Given the description of an element on the screen output the (x, y) to click on. 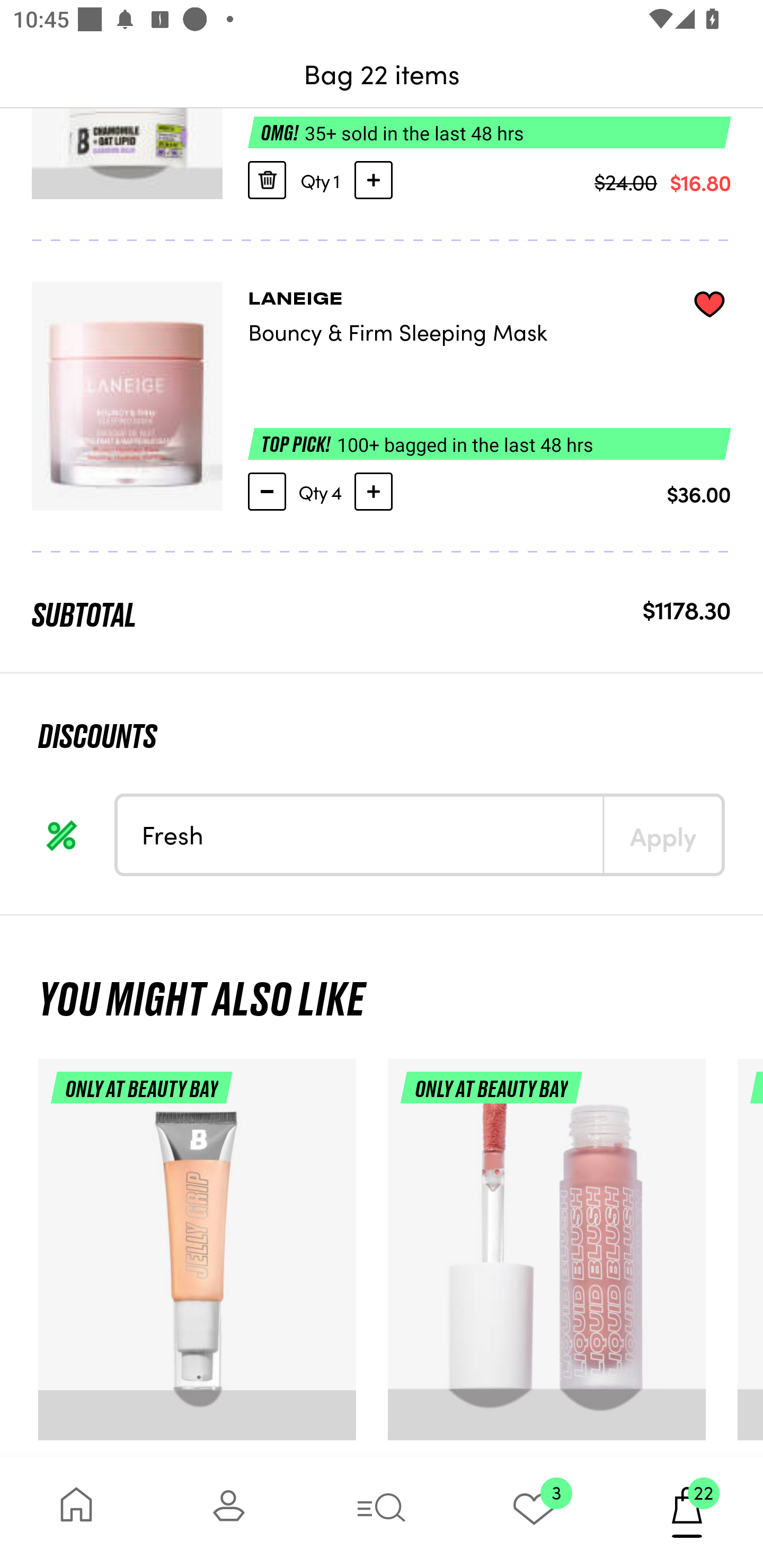
Fresh (360, 834)
Apply (661, 834)
ONLY AT BEAUTY BAY (197, 1257)
ONLY AT BEAUTY BAY (546, 1257)
3 (533, 1512)
22 (686, 1512)
